Given the description of an element on the screen output the (x, y) to click on. 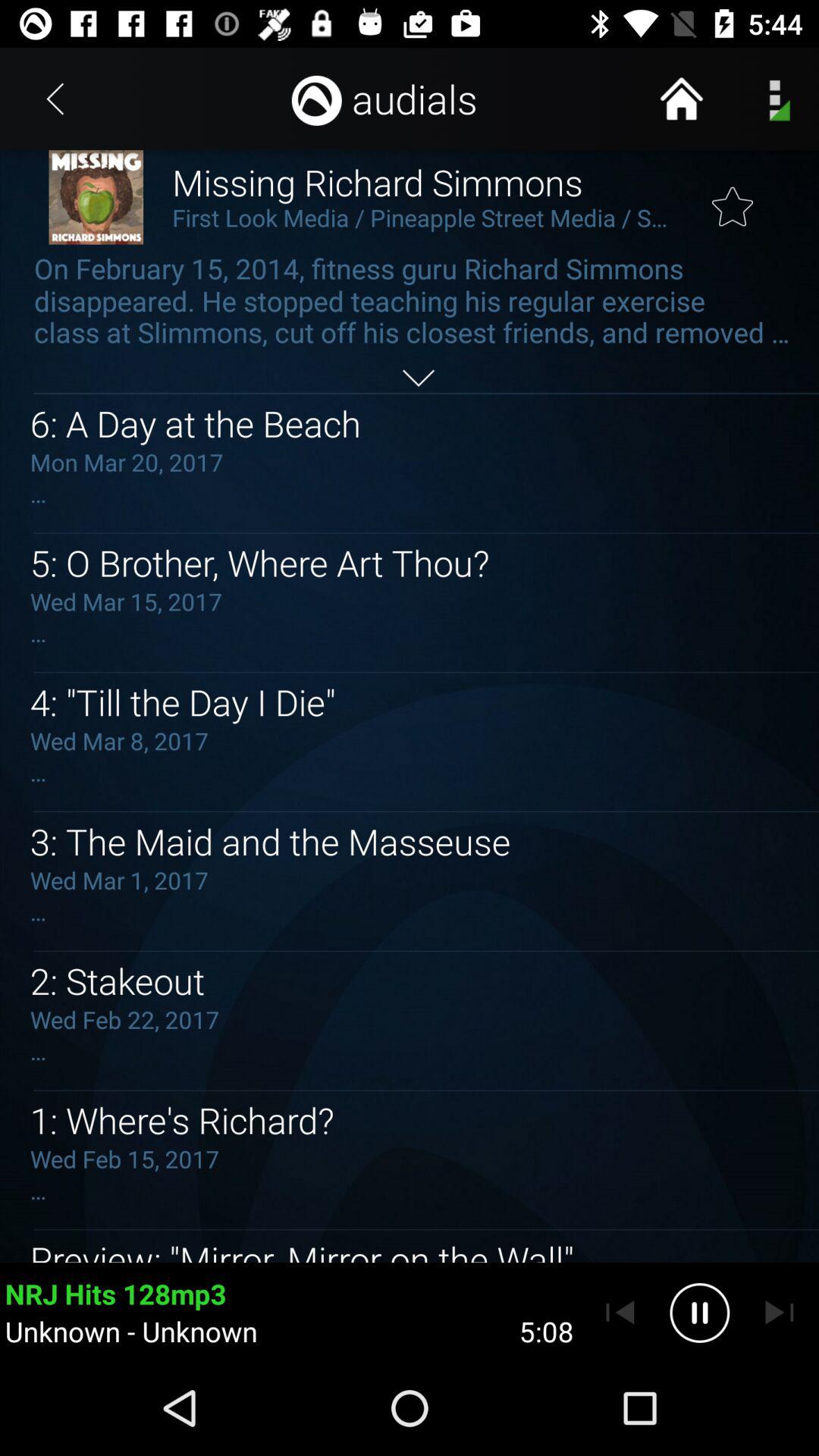
click item next to the missing richard simmons item (55, 98)
